Given the description of an element on the screen output the (x, y) to click on. 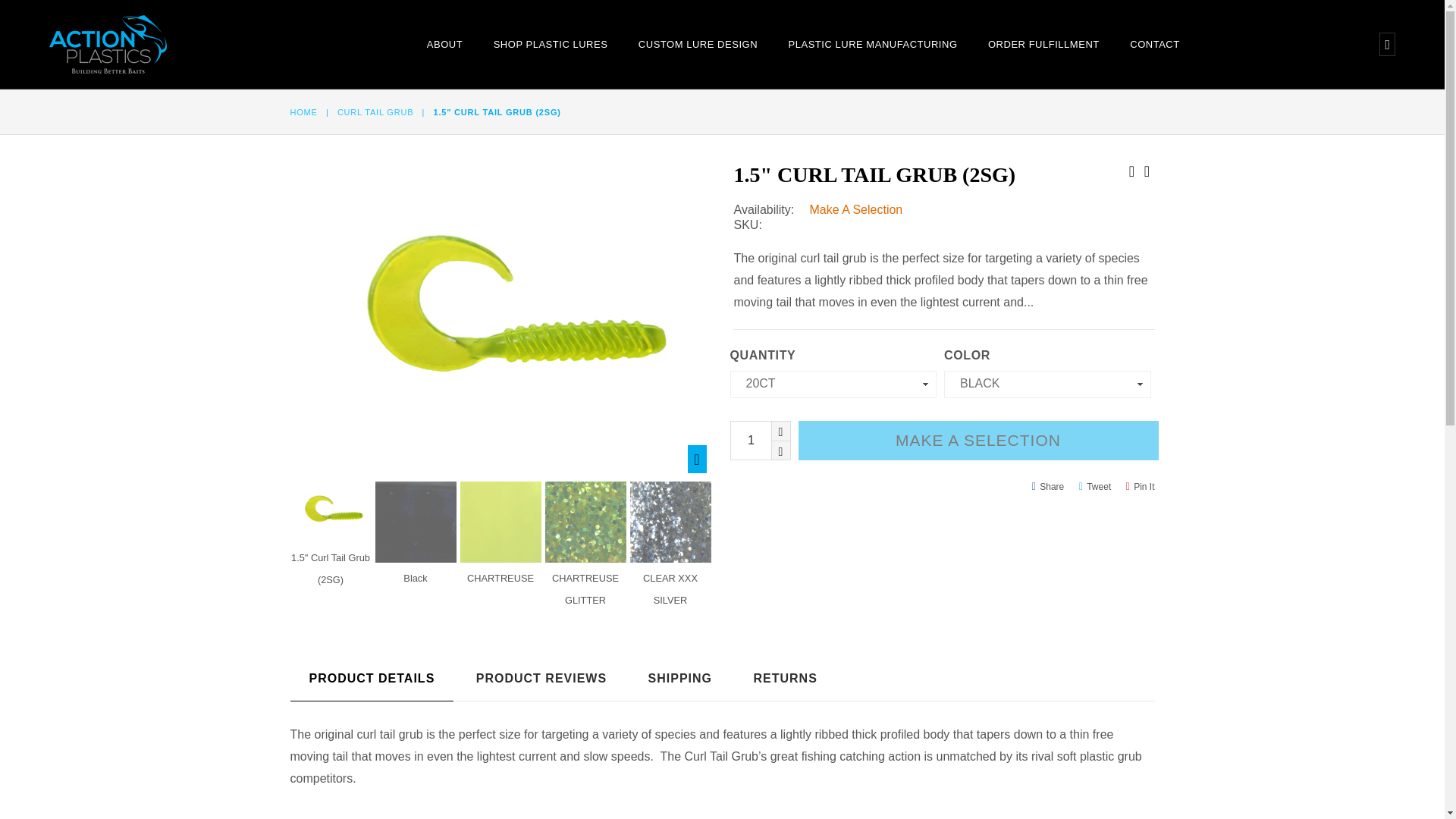
Next (1146, 169)
Share on Facebook (1047, 486)
Tweet on Twitter (1095, 486)
ORDER FULFILLMENT (1043, 43)
Pin on Pinterest (1140, 486)
Previous (1131, 169)
SHOP PLASTIC LURES (550, 43)
1 (760, 440)
CONTACT (1154, 43)
CUSTOM LURE DESIGN (697, 43)
Back to the home page (303, 111)
PLASTIC LURE MANUFACTURING (872, 43)
ABOUT (444, 43)
